Given the description of an element on the screen output the (x, y) to click on. 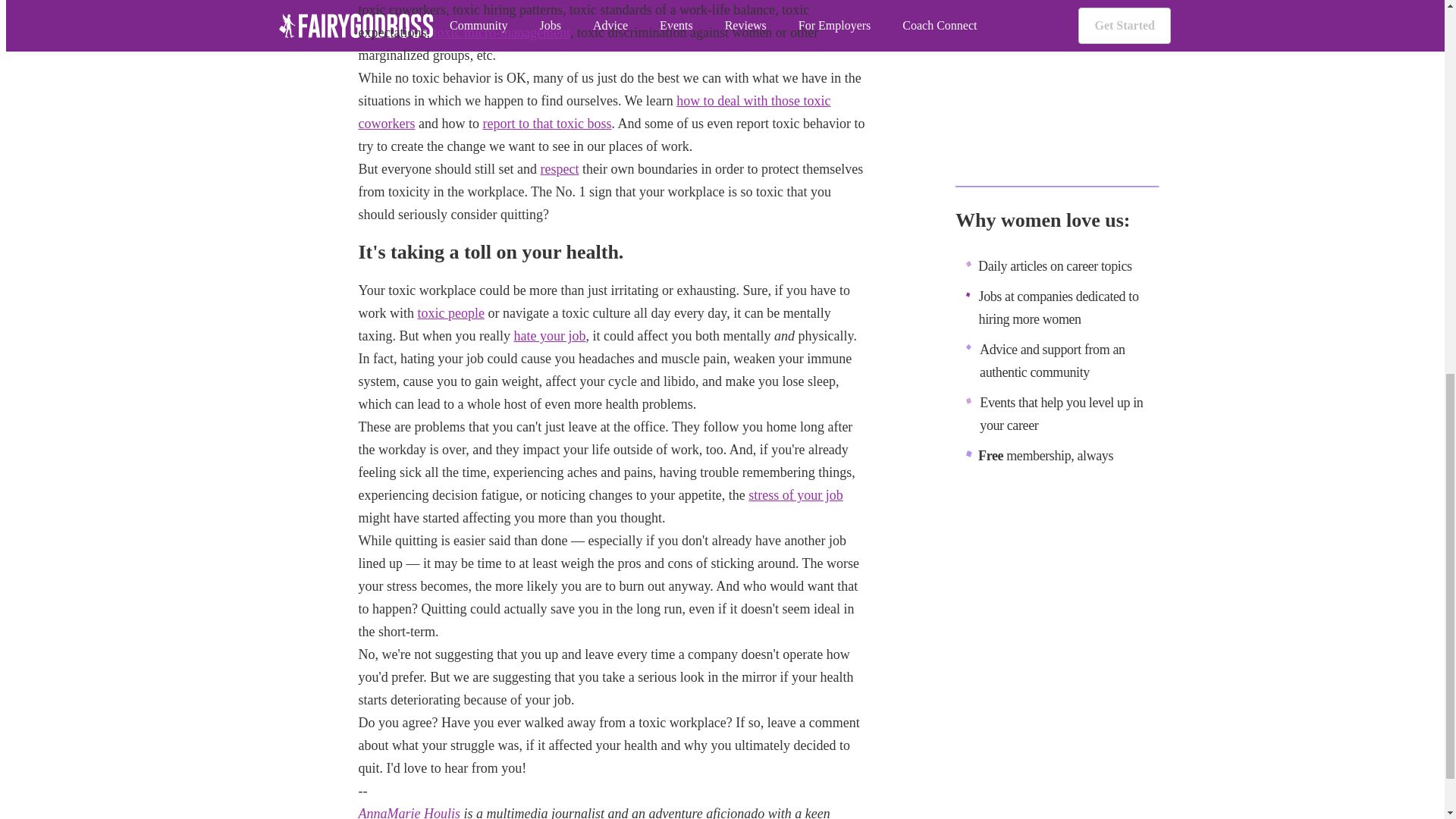
toxic micro- (465, 32)
stress of your job (795, 494)
management (535, 32)
report to that toxic boss (546, 123)
how to deal with those toxic coworkers (593, 112)
respect (559, 168)
toxic people (449, 313)
hate your job (549, 335)
